Given the description of an element on the screen output the (x, y) to click on. 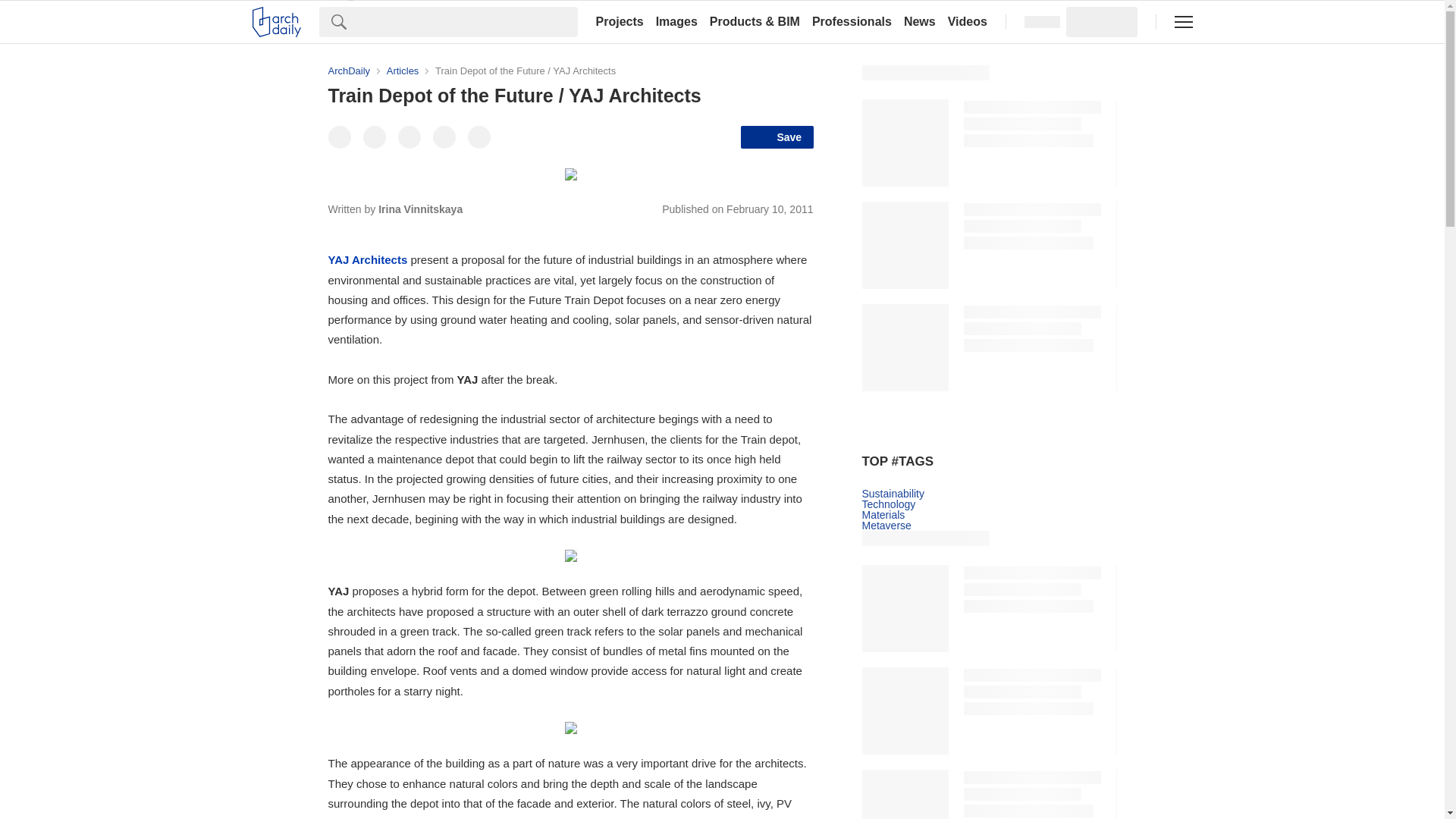
Projects (619, 21)
News (920, 21)
Videos (967, 21)
Professionals (852, 21)
Images (676, 21)
